Given the description of an element on the screen output the (x, y) to click on. 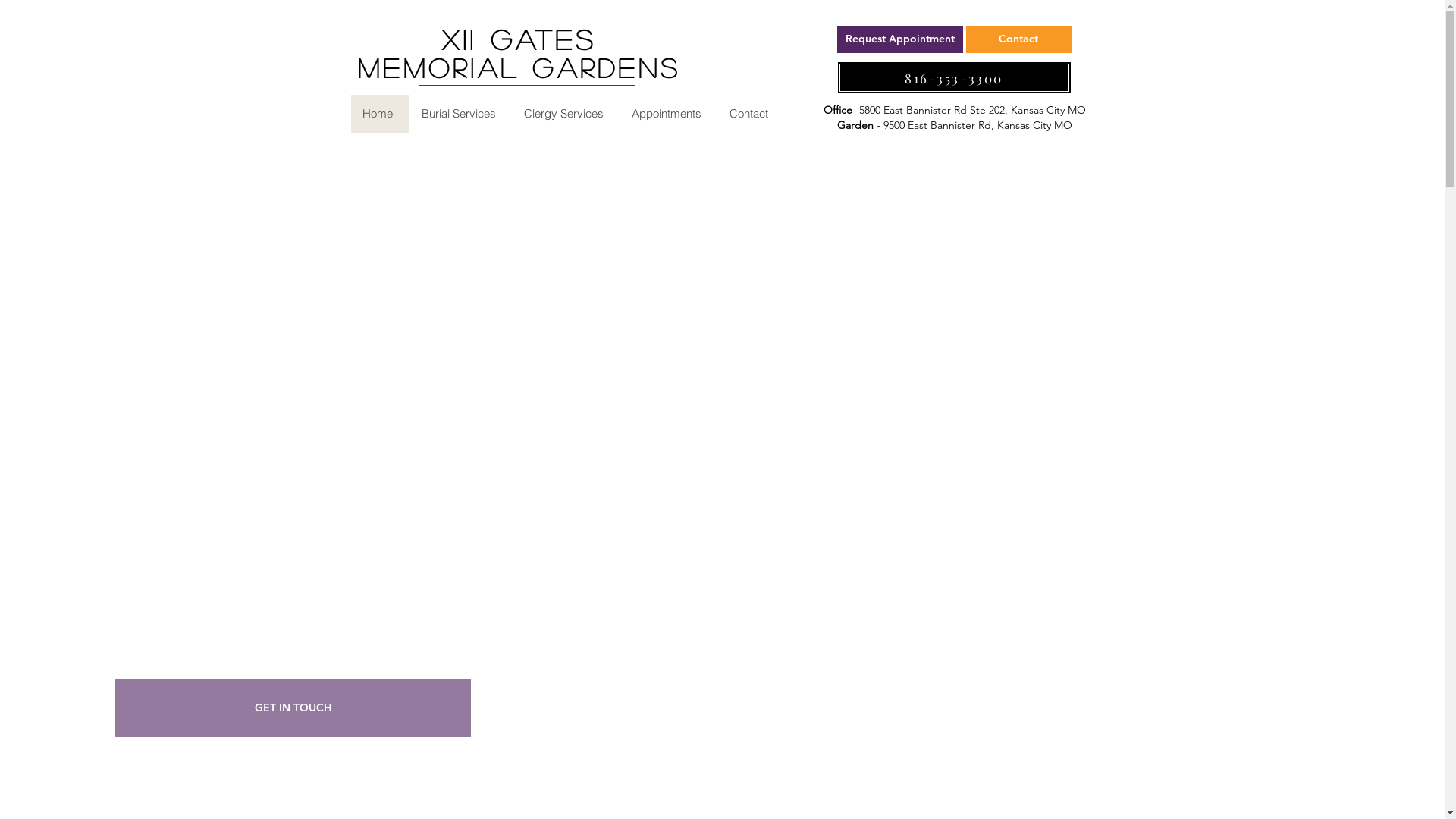
Contact Element type: text (1018, 39)
Home Element type: text (379, 113)
vase options Element type: text (146, 273)
clergy services Element type: text (165, 358)
Clergy Services Element type: text (564, 113)
Request Appointment Element type: text (900, 39)
hours of operation Element type: text (186, 405)
Appointments Element type: text (667, 113)
burial packages Element type: text (167, 315)
contact Element type: text (117, 449)
Contact Element type: text (750, 113)
GET IN TOUCH Element type: text (292, 708)
816-353-3300 Element type: text (954, 77)
Burial Services Element type: text (460, 113)
